Given the description of an element on the screen output the (x, y) to click on. 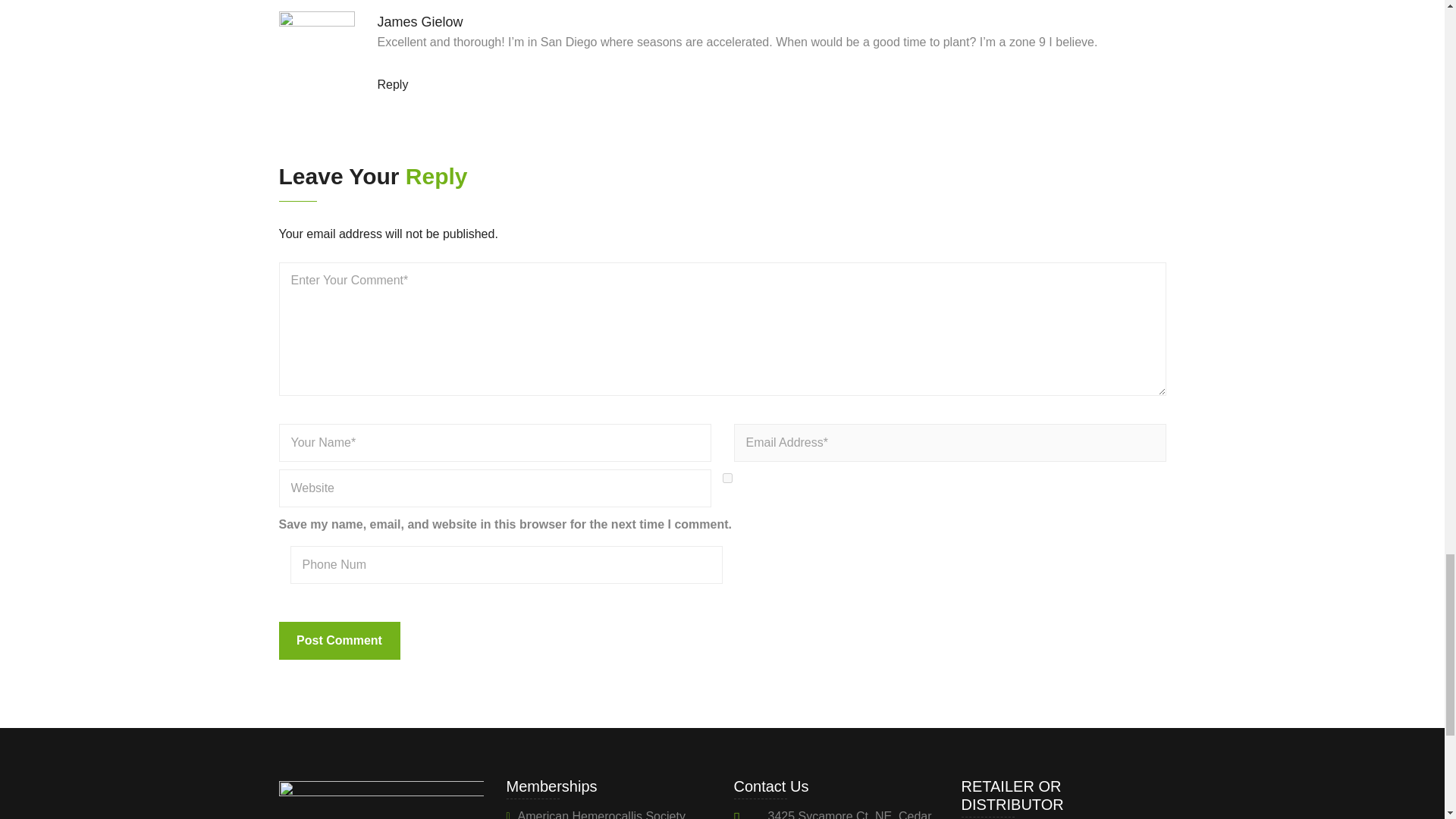
yes (727, 478)
Post Comment (339, 640)
